Given the description of an element on the screen output the (x, y) to click on. 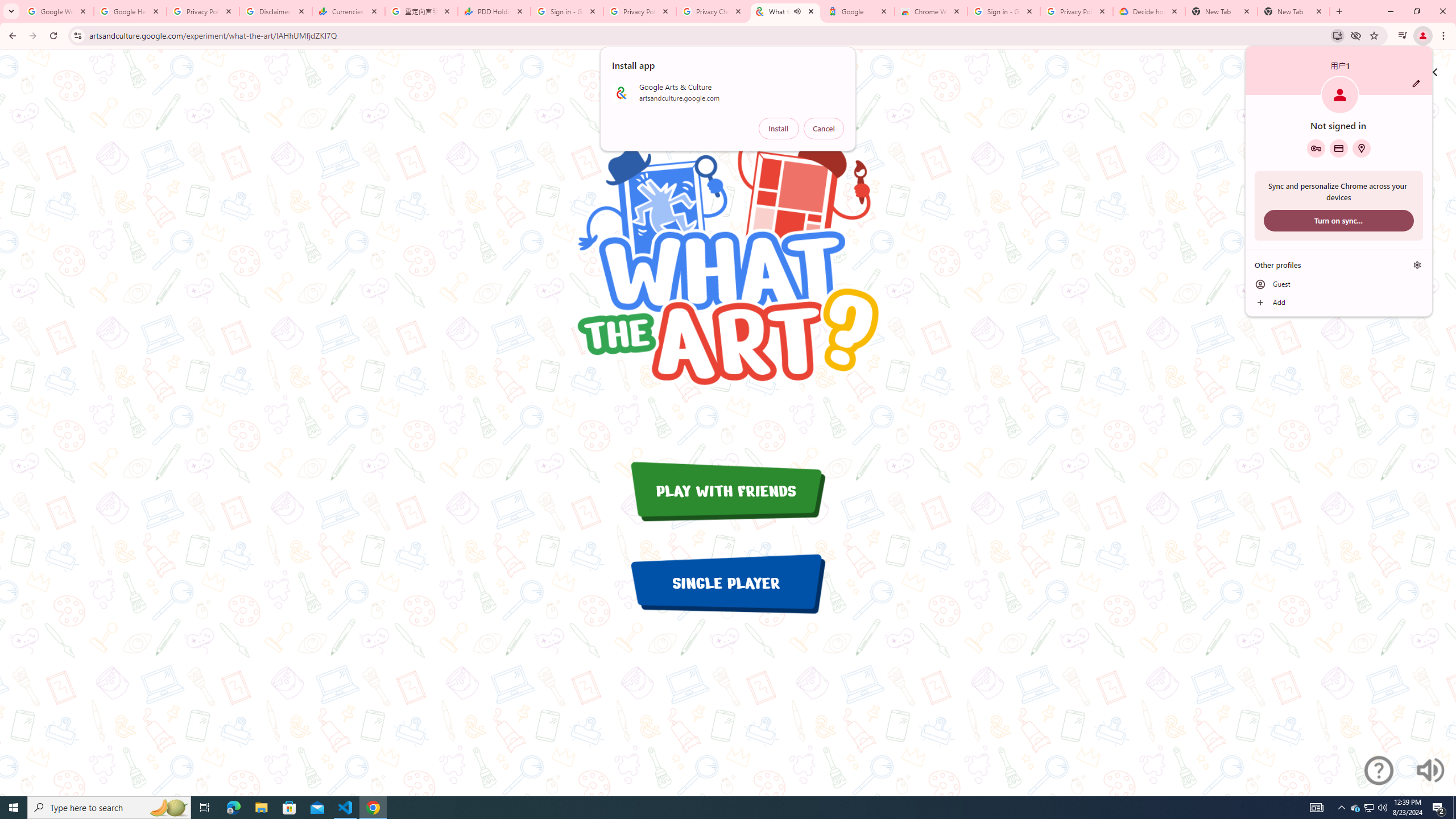
Google Password Manager (1315, 148)
User Promoted Notification Area (1368, 807)
Sign in - Google Accounts (566, 11)
Google Workspace Admin Community (57, 11)
Cancel (823, 128)
Type here to search (108, 807)
File Explorer (261, 807)
